Given the description of an element on the screen output the (x, y) to click on. 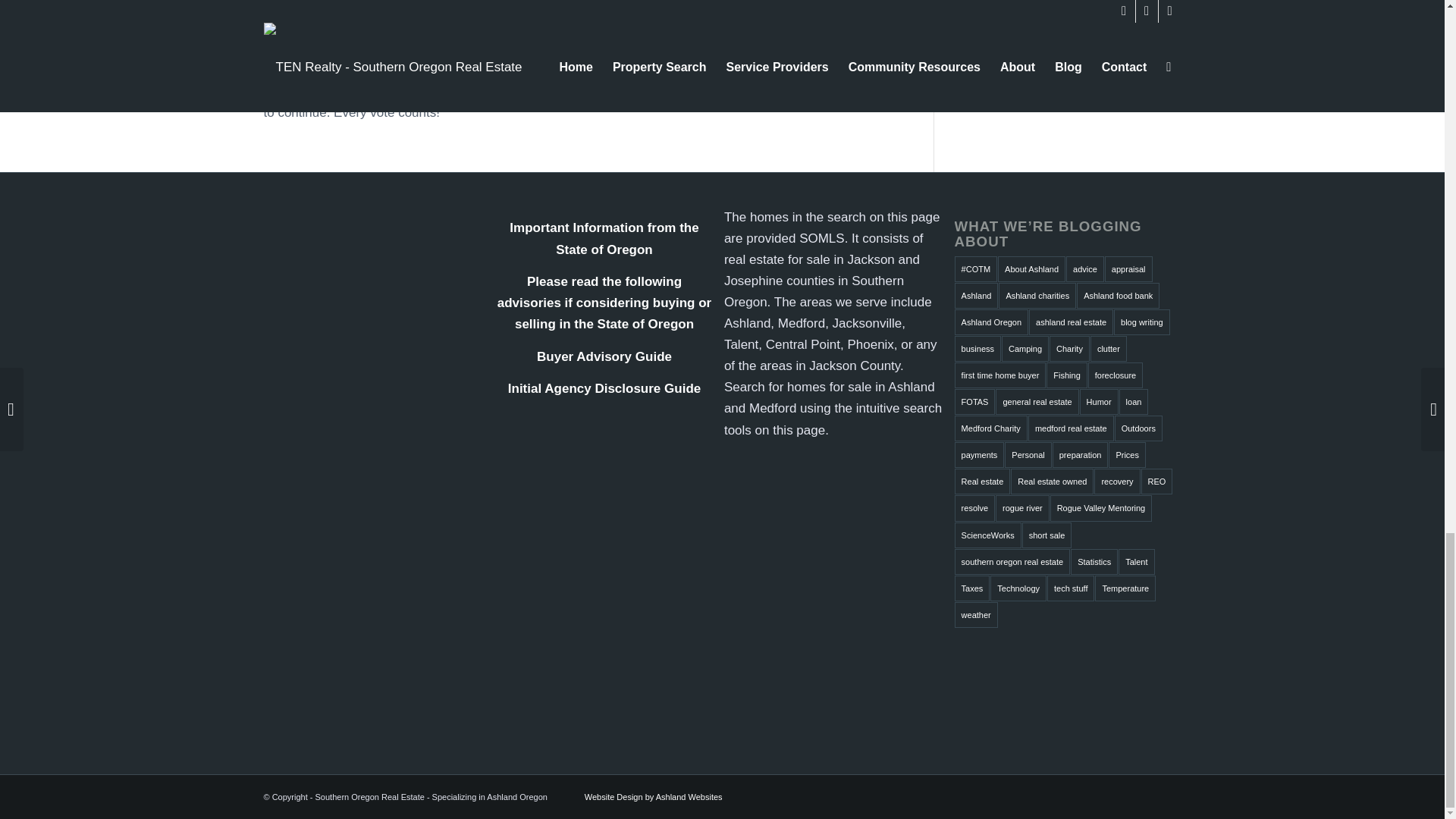
resolvecenter.org (775, 47)
Send (1000, 41)
